Given the description of an element on the screen output the (x, y) to click on. 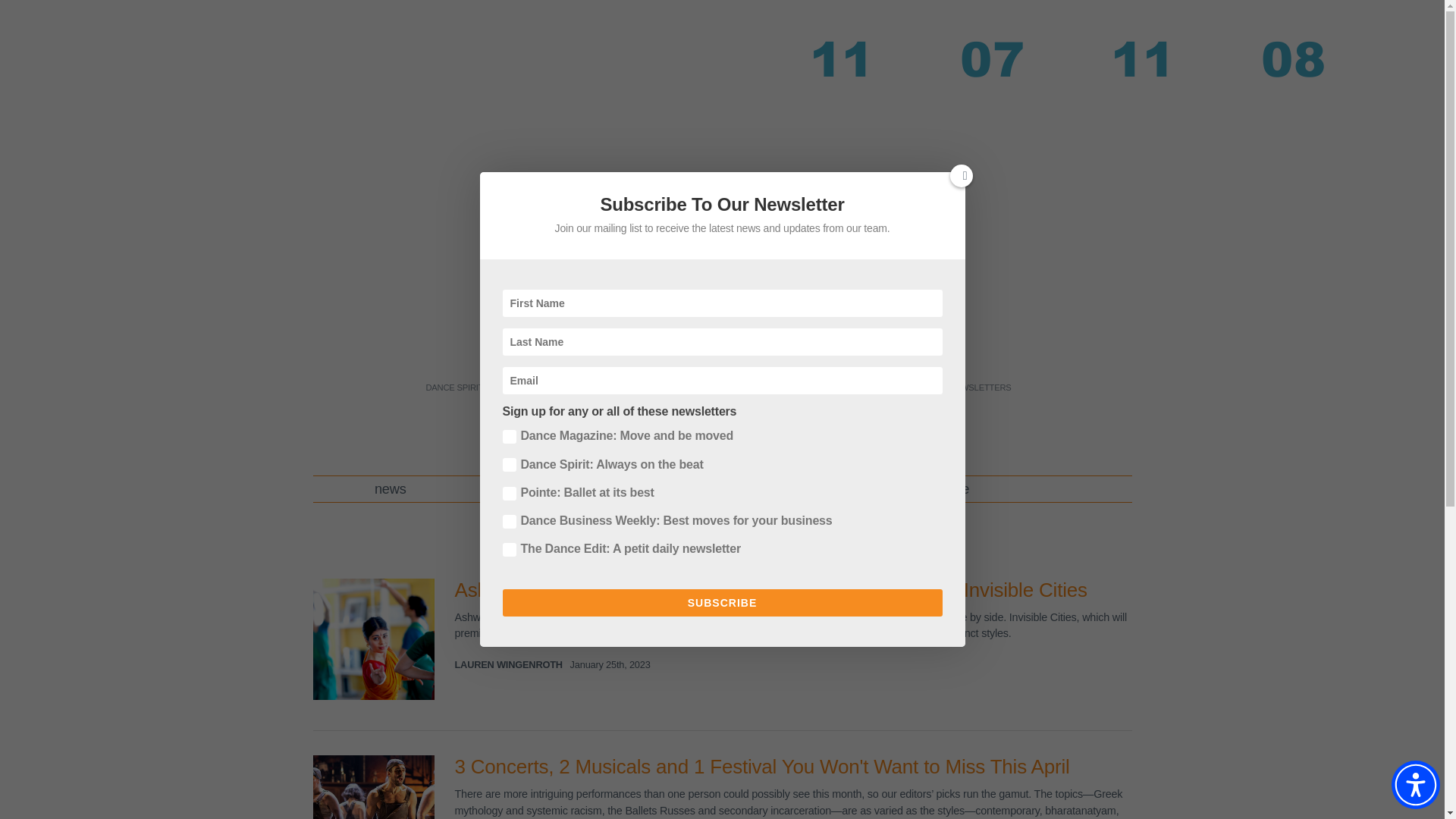
POINTE MAGAZINE (625, 387)
more (797, 488)
subscribe (940, 488)
COLLEGE GUIDE (897, 387)
THE DANCE EDIT (715, 387)
Accessibility Menu (1415, 784)
EVENTS CALENDAR (807, 387)
Posts by Lauren Wingenroth (508, 664)
NEWSLETTERS (980, 387)
DANCE TEACHER (535, 387)
DANCE SPIRIT (454, 387)
guides (662, 488)
